Given the description of an element on the screen output the (x, y) to click on. 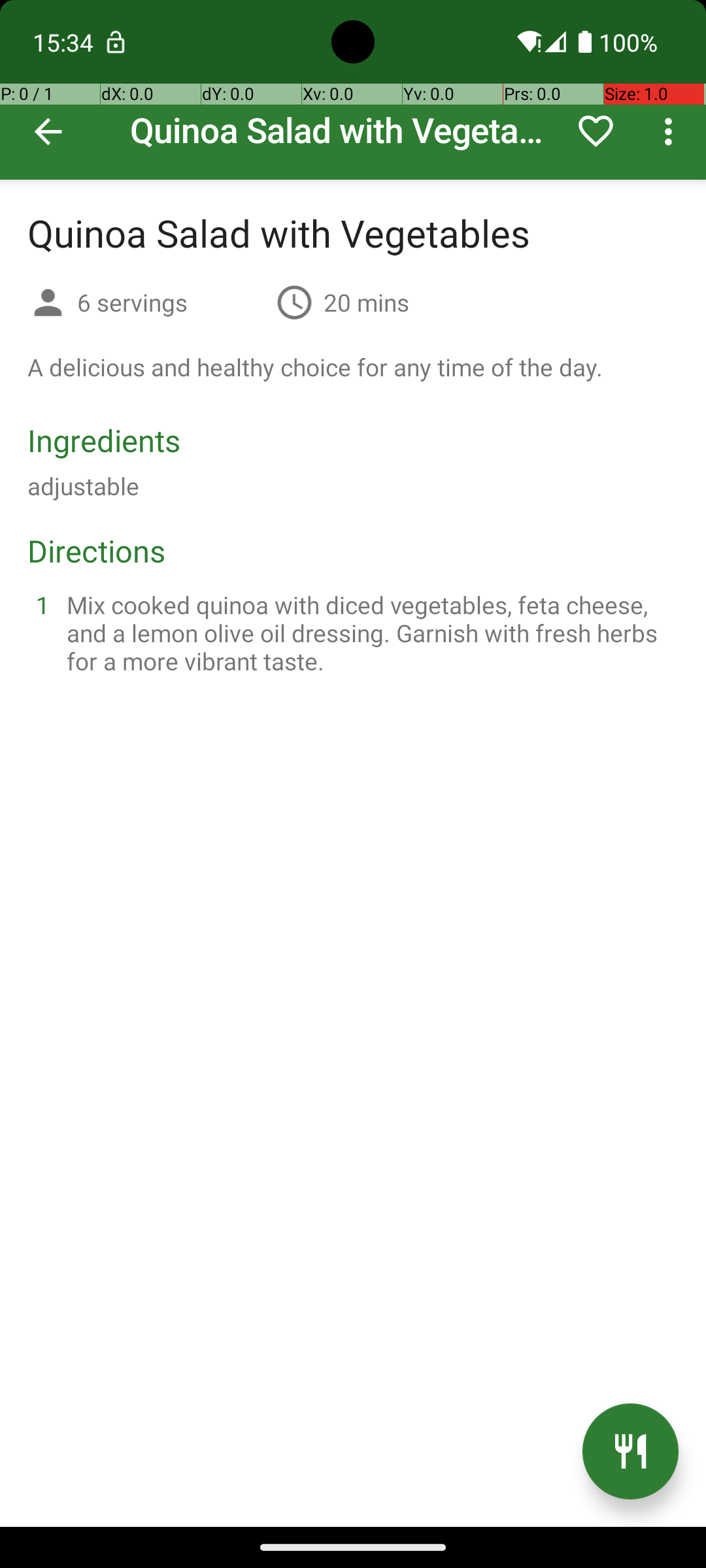
Mix cooked quinoa with diced vegetables, feta cheese, and a lemon olive oil dressing. Garnish with fresh herbs for a more vibrant taste. Element type: android.widget.TextView (368, 632)
